Given the description of an element on the screen output the (x, y) to click on. 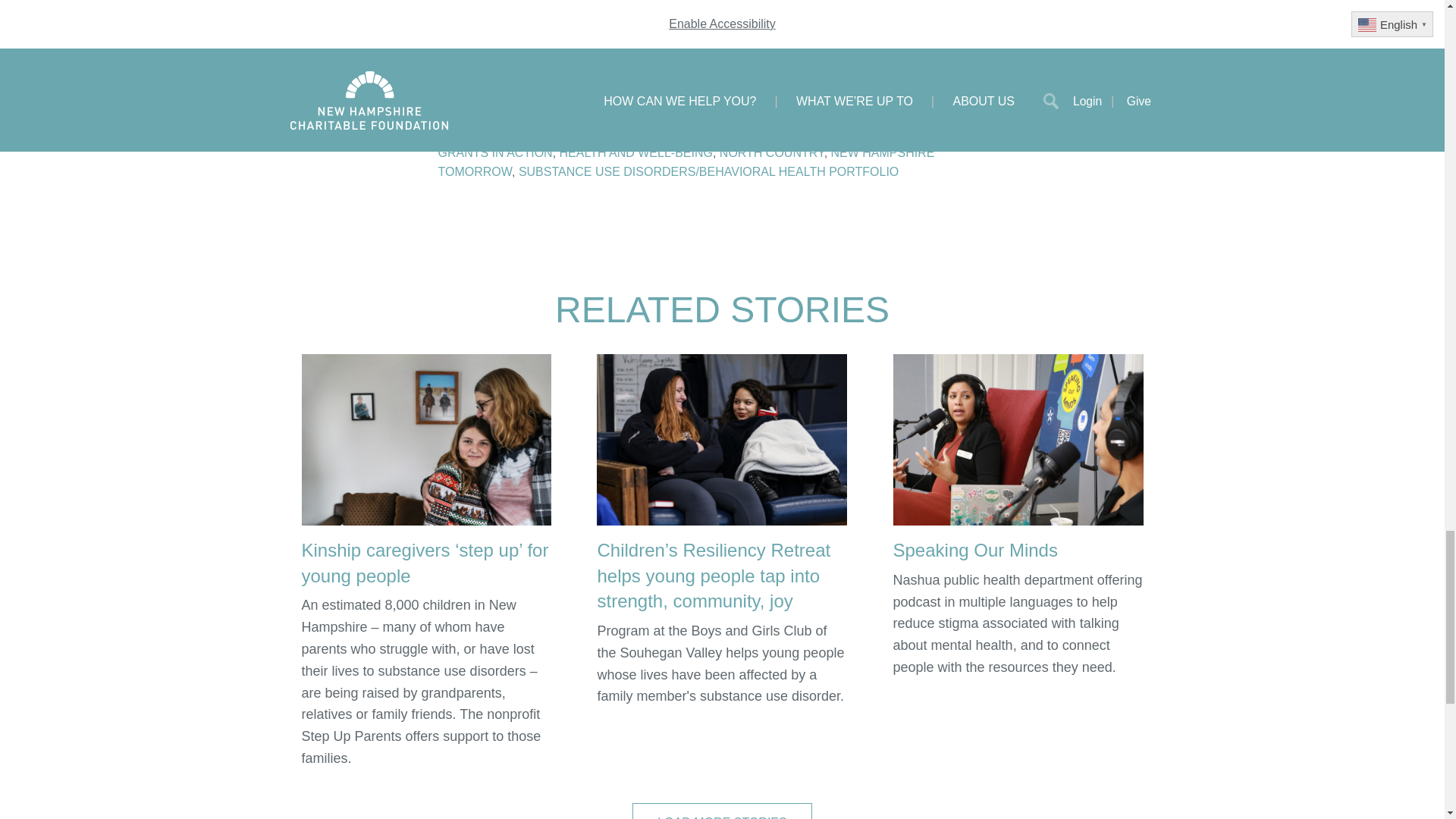
Twitter (512, 100)
Facebook (466, 100)
LinkedIn (559, 100)
Email (607, 100)
Print (654, 100)
